Given the description of an element on the screen output the (x, y) to click on. 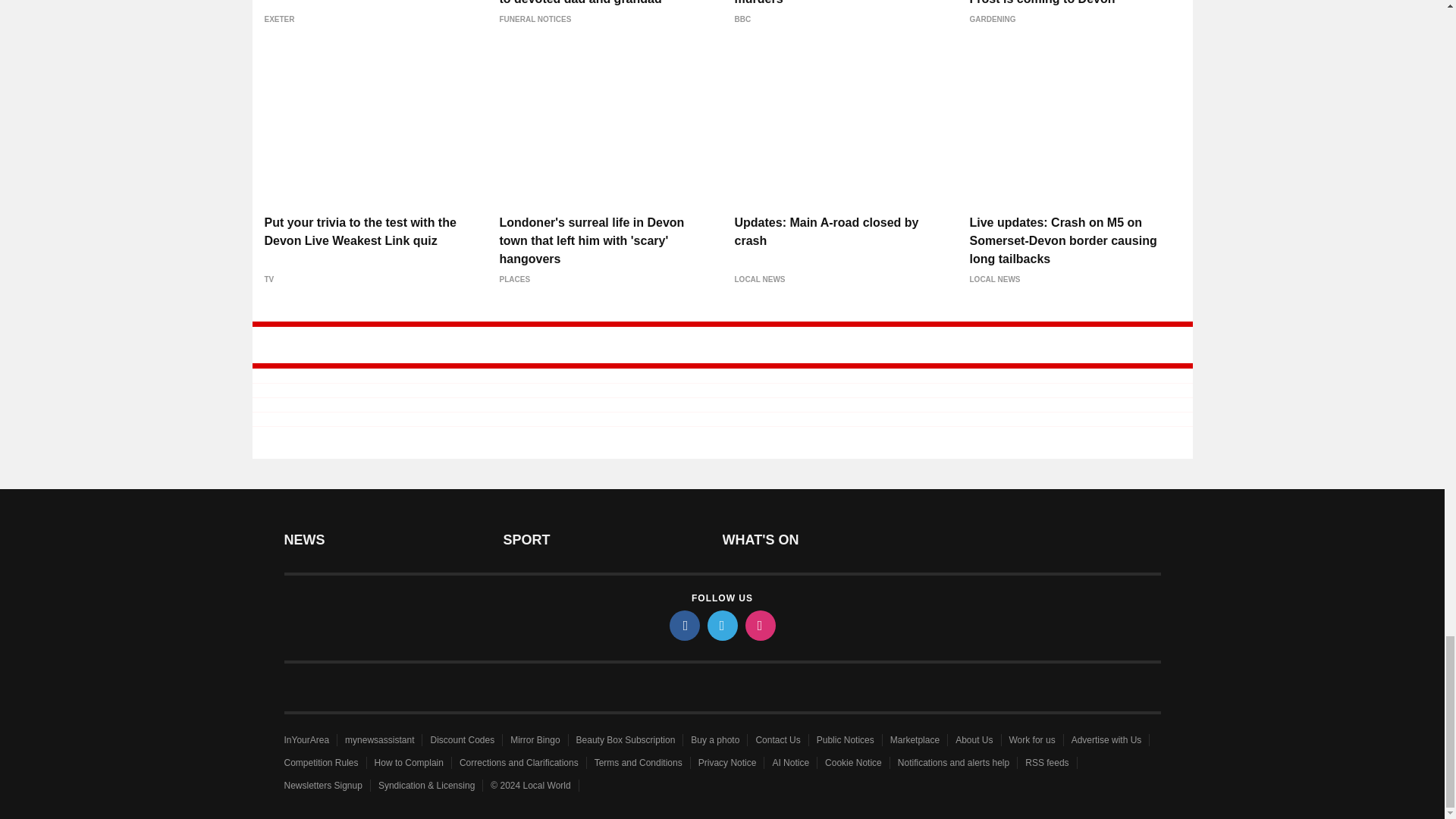
facebook (683, 625)
twitter (721, 625)
instagram (759, 625)
